Given the description of an element on the screen output the (x, y) to click on. 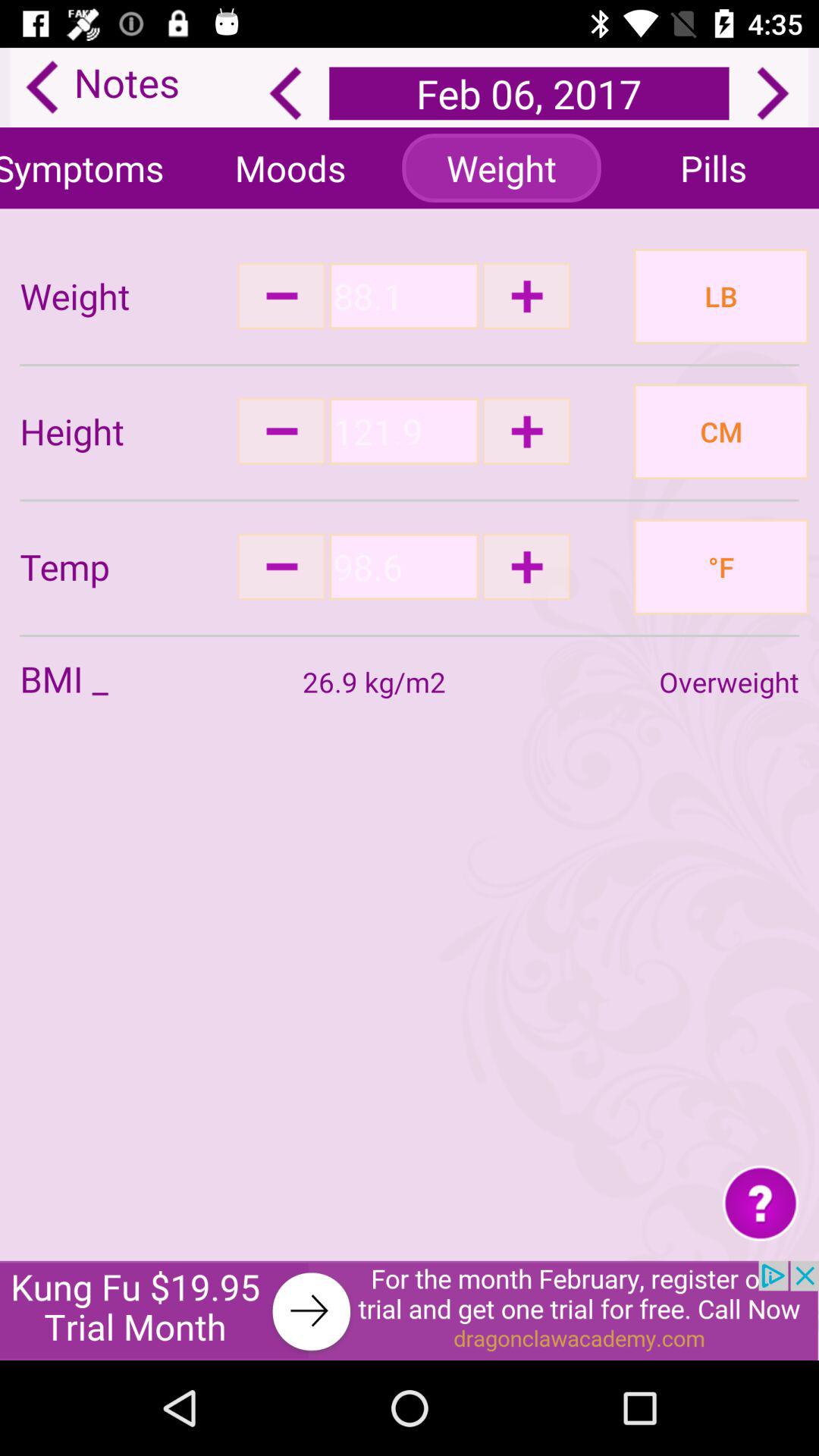
go to increase (526, 566)
